Given the description of an element on the screen output the (x, y) to click on. 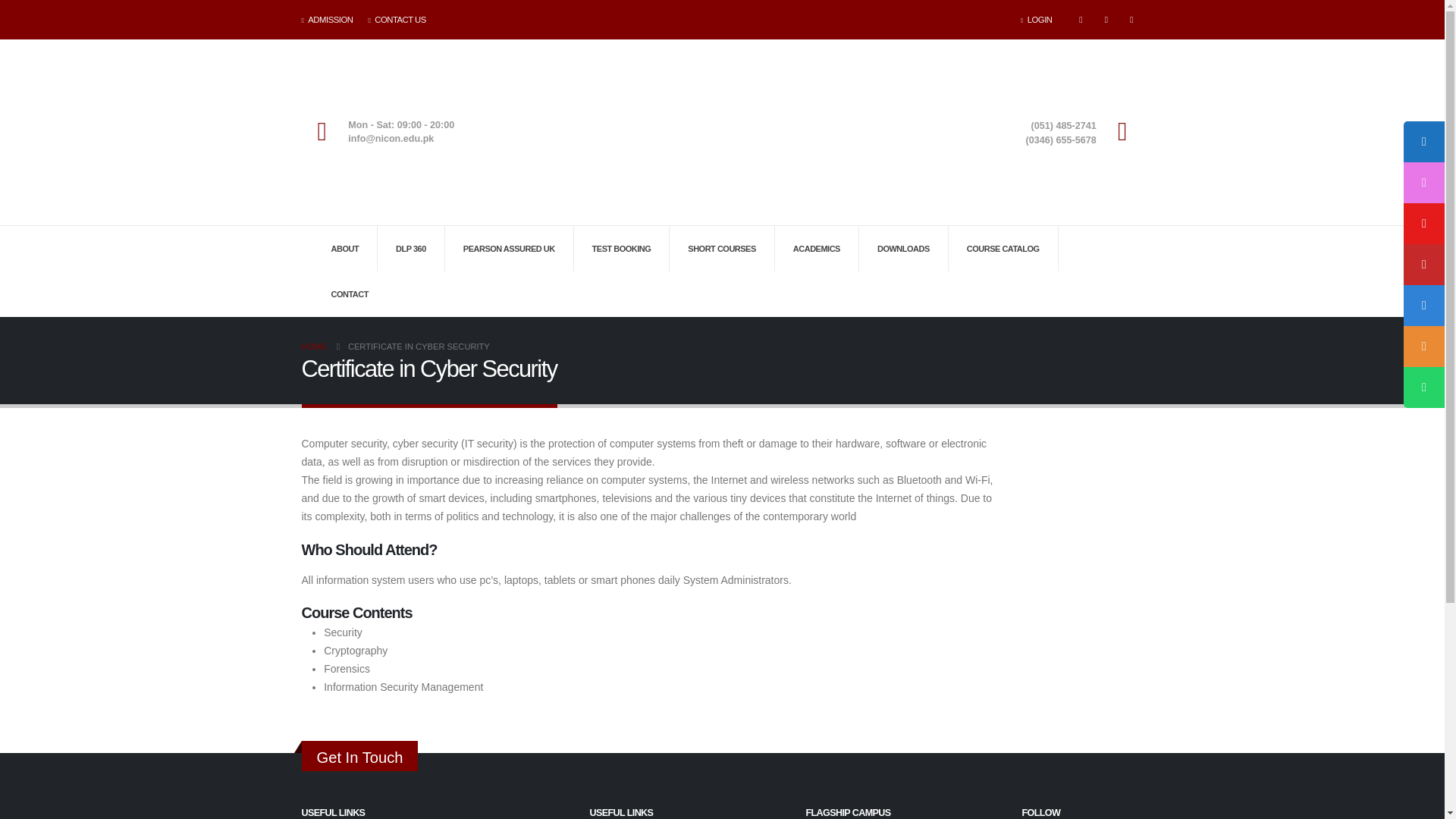
Instagram (1131, 19)
LOGIN (1039, 19)
Facebook (1081, 19)
ADMISSION (331, 19)
CONTACT US (395, 19)
Youtube (1106, 19)
Go to Home Page (313, 346)
NICON - Group of Colleges (722, 131)
